Given the description of an element on the screen output the (x, y) to click on. 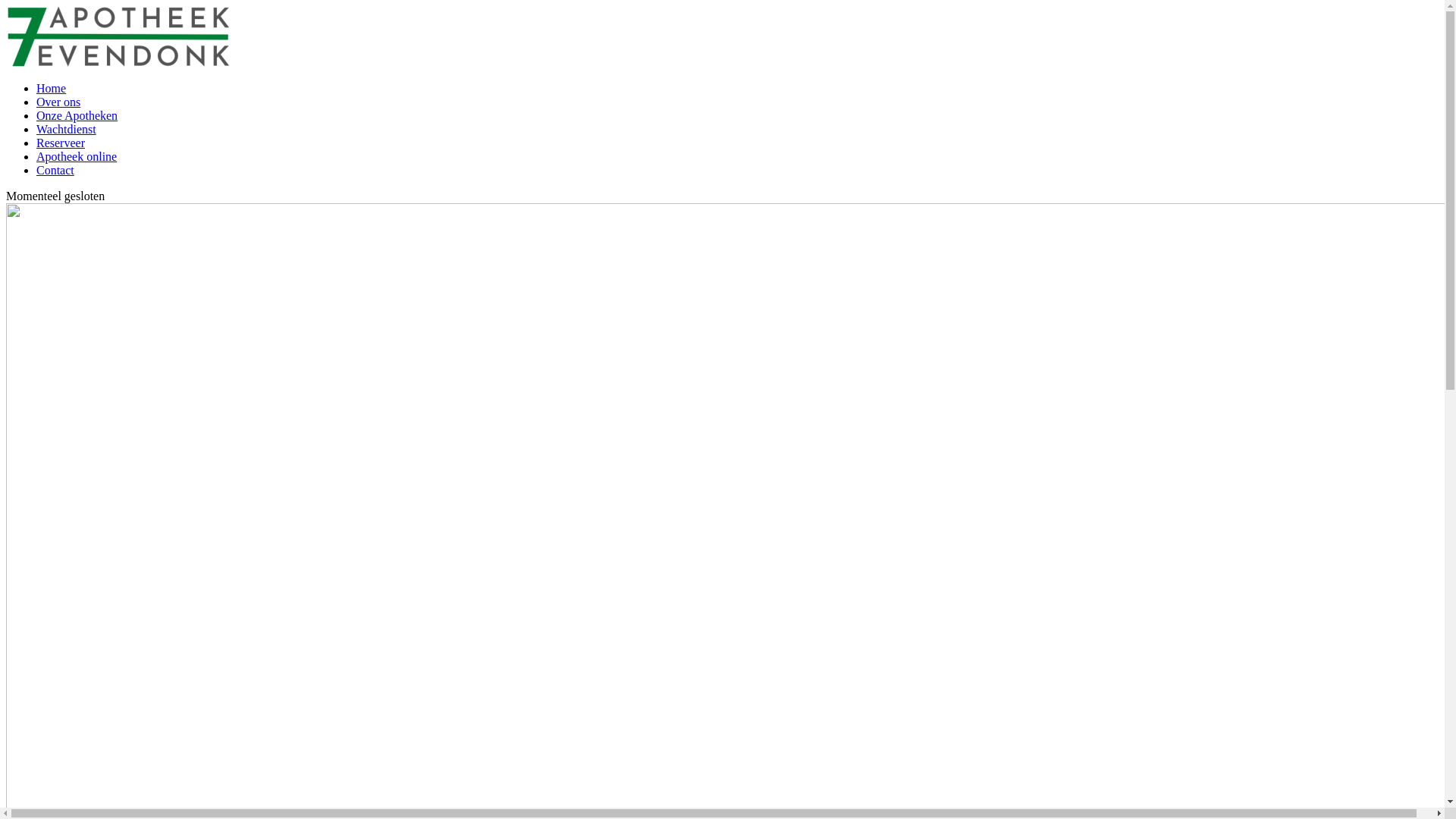
Wachtdienst Element type: text (66, 128)
Home Element type: text (50, 87)
Reserveer Element type: text (60, 142)
Over ons Element type: text (58, 101)
Contact Element type: text (55, 169)
Onze Apotheken Element type: text (76, 115)
Apotheek online Element type: text (76, 156)
Apotheek Zevendonk Element type: hover (118, 36)
